Given the description of an element on the screen output the (x, y) to click on. 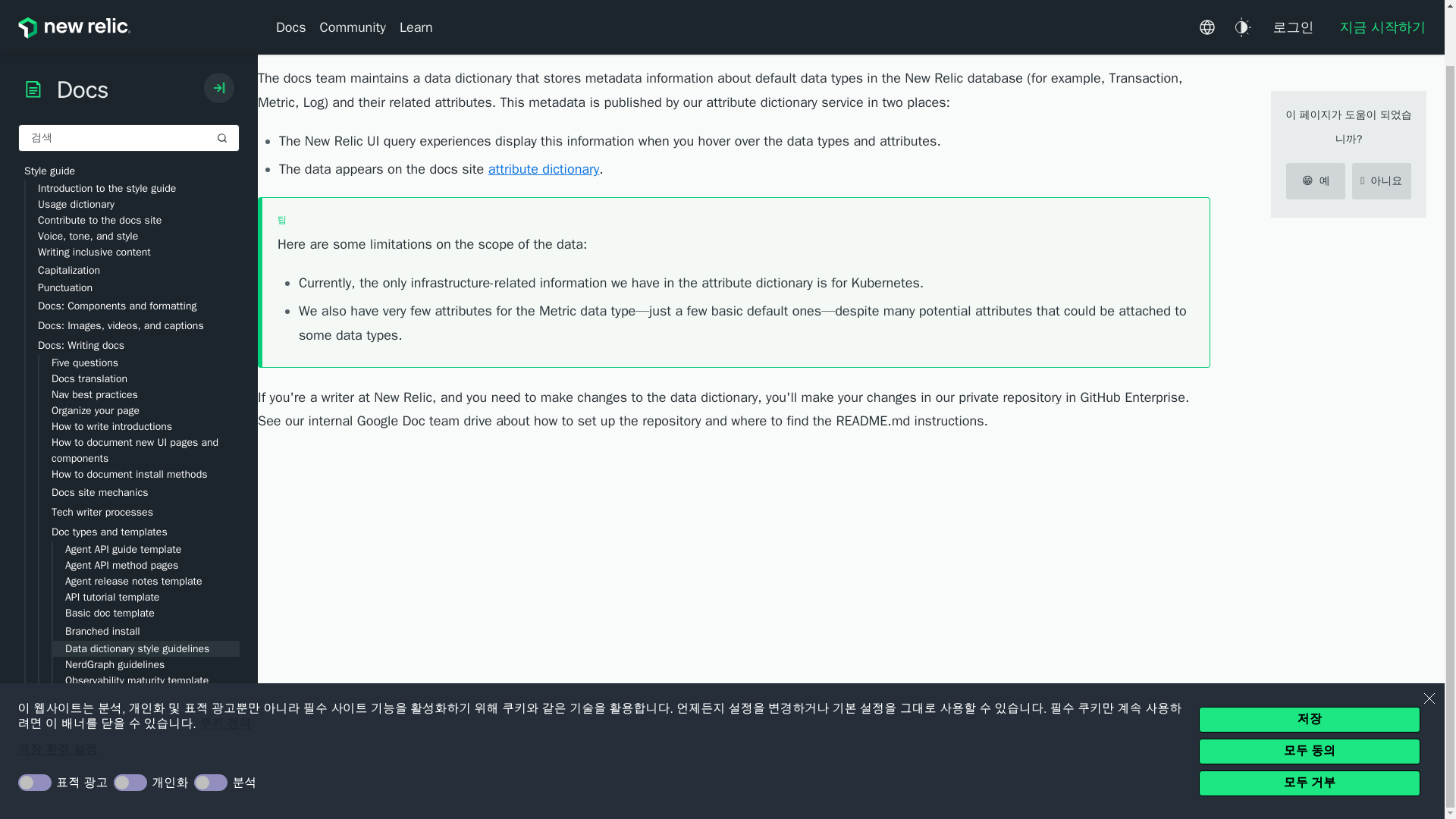
Usage dictionary (138, 143)
Introduction to the style guide (138, 127)
Contribute to the docs site (138, 159)
Writing inclusive content (138, 191)
Punctuation (138, 227)
Voice, tone, and style (138, 175)
